Given the description of an element on the screen output the (x, y) to click on. 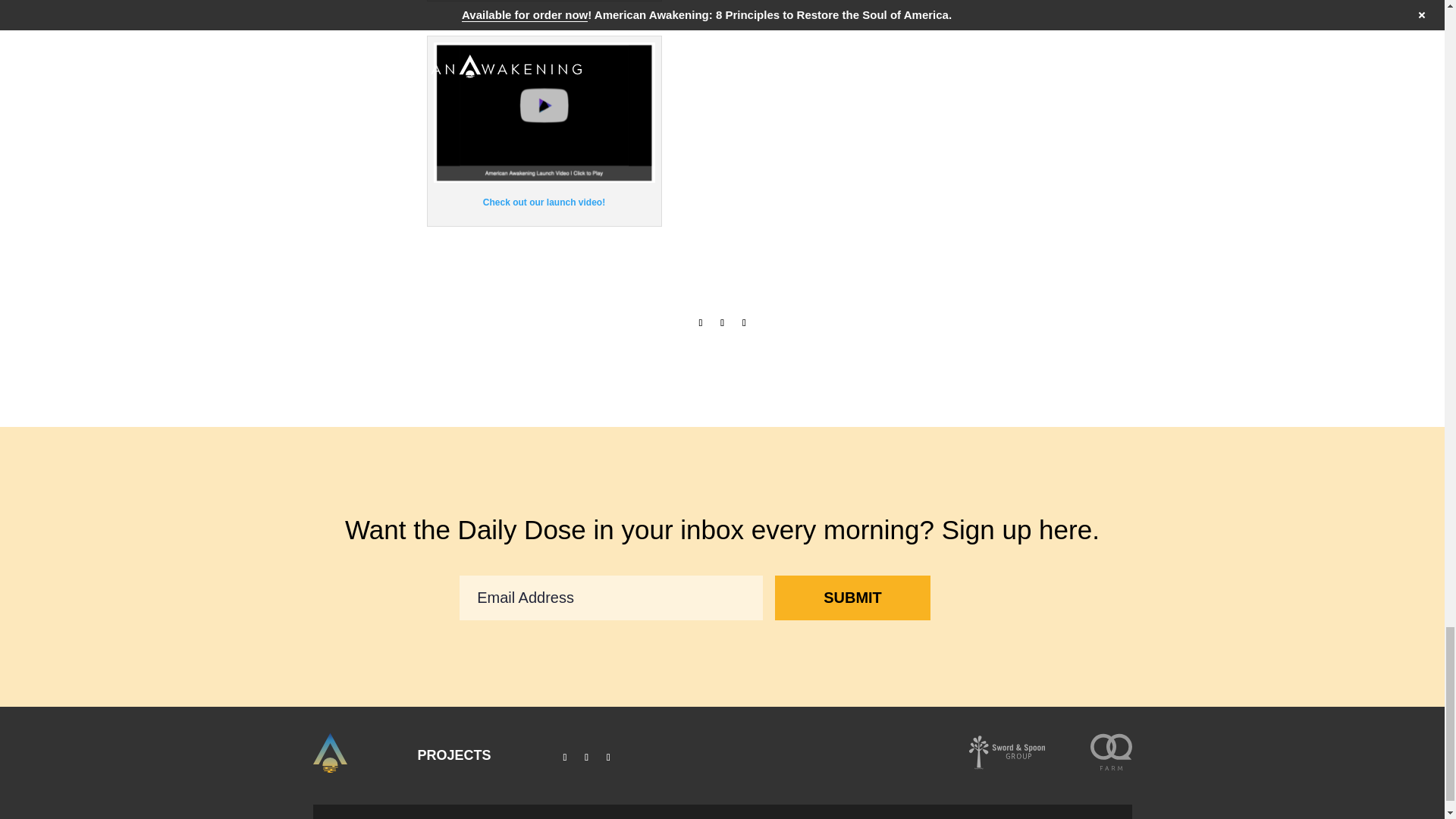
Submit (852, 597)
Check out our launch video! (544, 202)
PROJECTS (453, 755)
Submit (852, 597)
